Given the description of an element on the screen output the (x, y) to click on. 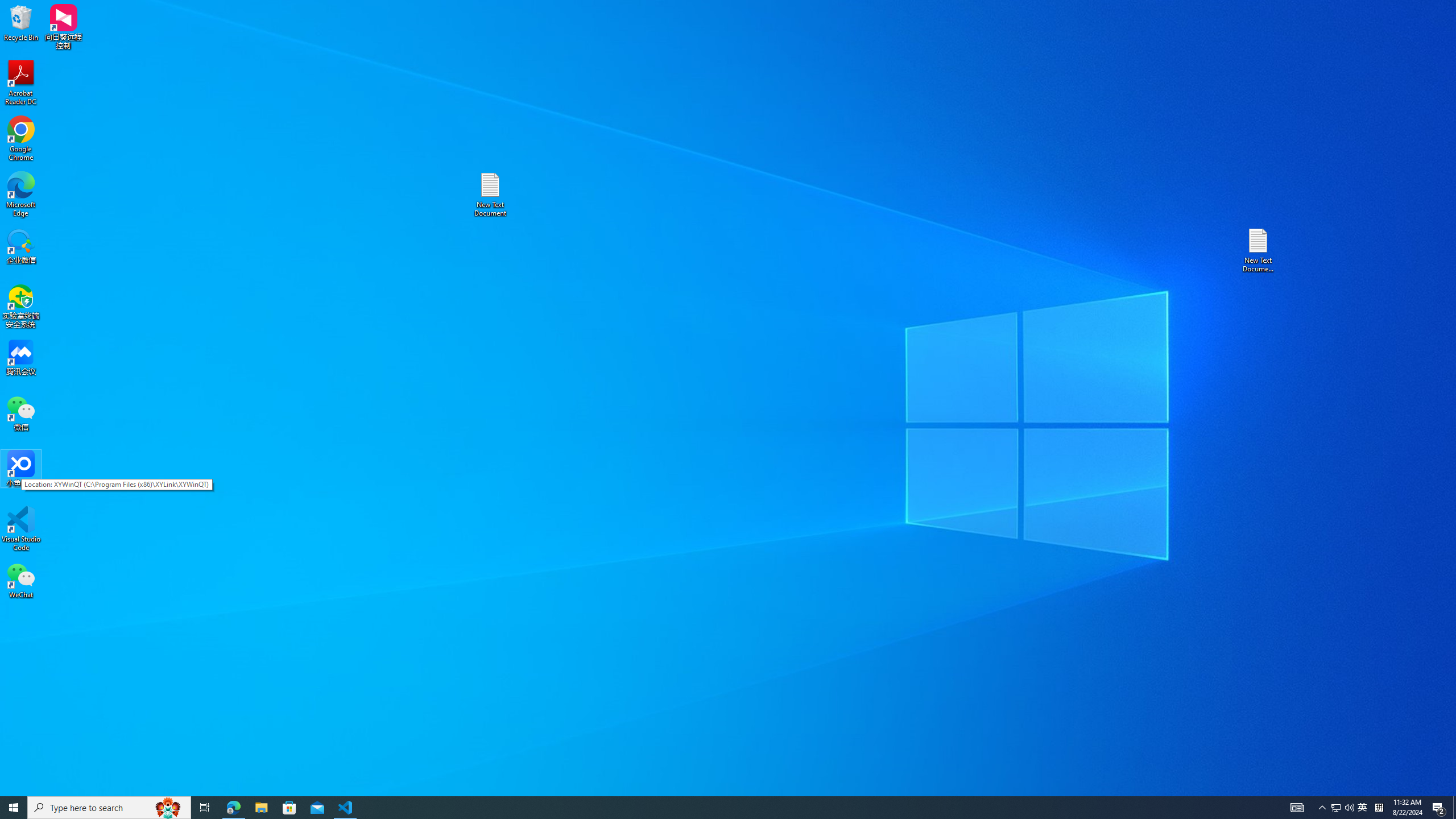
Microsoft Edge - 1 running window (233, 807)
Running applications (707, 807)
Show desktop (1454, 807)
Visual Studio Code - 1 running window (345, 807)
Start (13, 807)
New Text Document (2) (1335, 807)
New Text Document (1362, 807)
Google Chrome (1258, 250)
Type here to search (489, 194)
User Promoted Notification Area (21, 138)
